Given the description of an element on the screen output the (x, y) to click on. 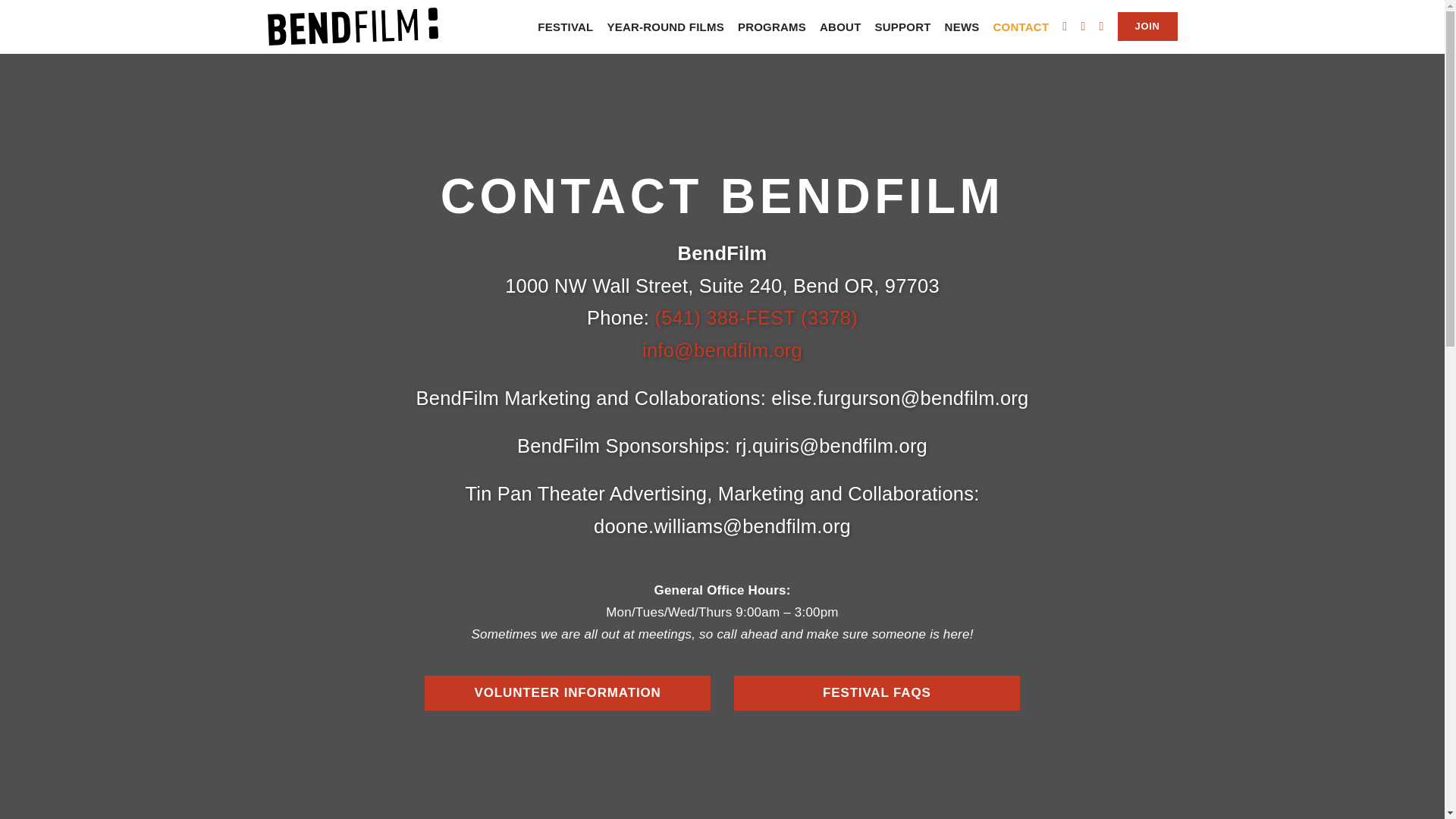
PROGRAMS (772, 26)
YEAR-ROUND FILMS (665, 26)
FESTIVAL (564, 26)
SUPPORT (903, 26)
